Given the description of an element on the screen output the (x, y) to click on. 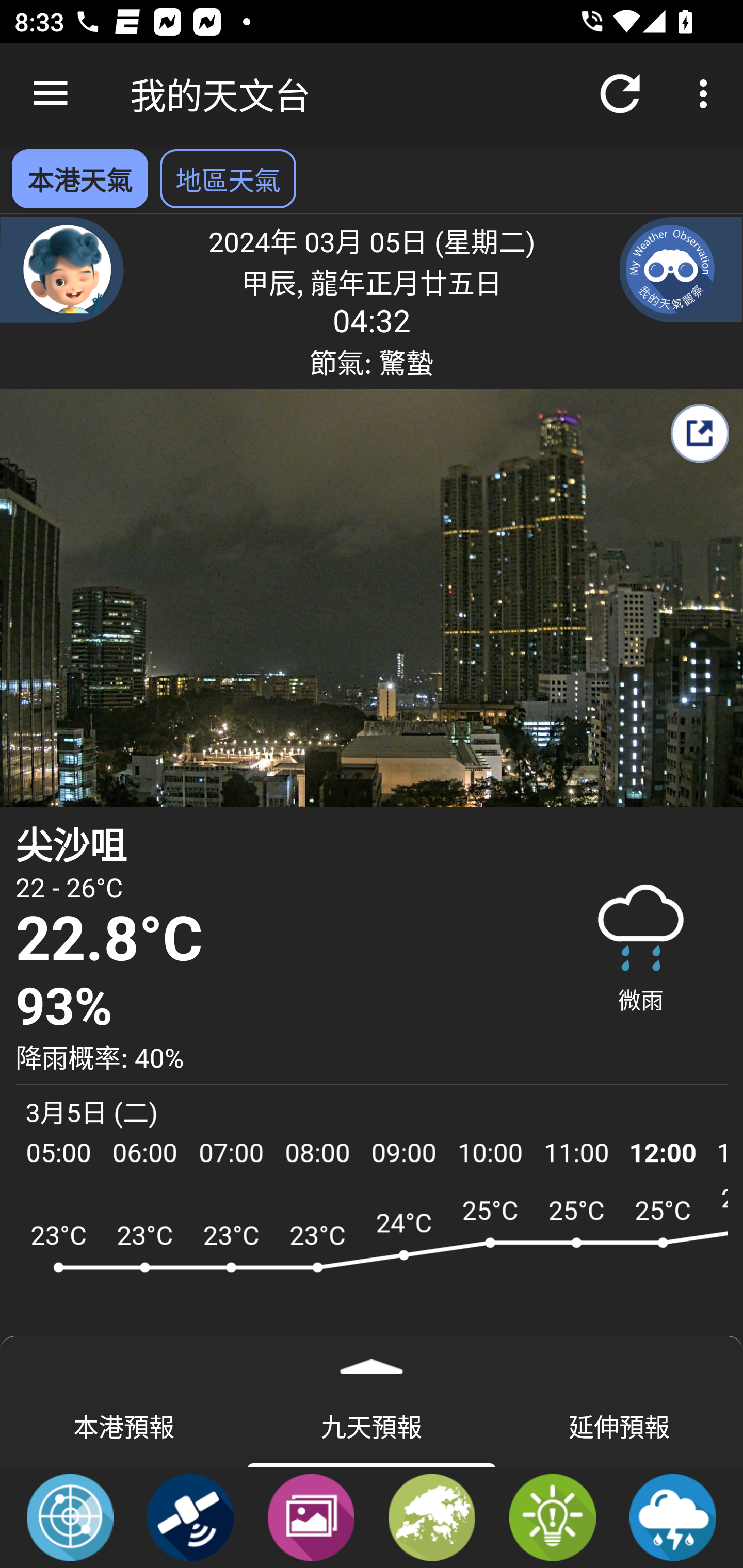
向上瀏覽 (50, 93)
重新整理 (619, 93)
更多選項 (706, 93)
本港天氣 已選擇 本港天氣 (79, 178)
地區天氣 選擇 地區天氣 (227, 178)
聊天機械人 (62, 269)
我的天氣觀察 (680, 269)
分享我的天氣報告 (699, 433)
22.8°C 氣溫22.8攝氏度 (276, 939)
93% 相對濕度百分之93 (276, 1007)
九天自動天氣預報 圖片
輕按進入內頁，即可了解詳細資料。 ARWF (371, 1275)
展開 (371, 1358)
本港預報 (123, 1424)
延伸預報 (619, 1424)
雷達圖像 (69, 1516)
衛星圖像 (190, 1516)
天氣照片 (310, 1516)
分區天氣 (431, 1516)
天氣提示 (551, 1516)
定點降雨及閃電預報 (672, 1516)
